Given the description of an element on the screen output the (x, y) to click on. 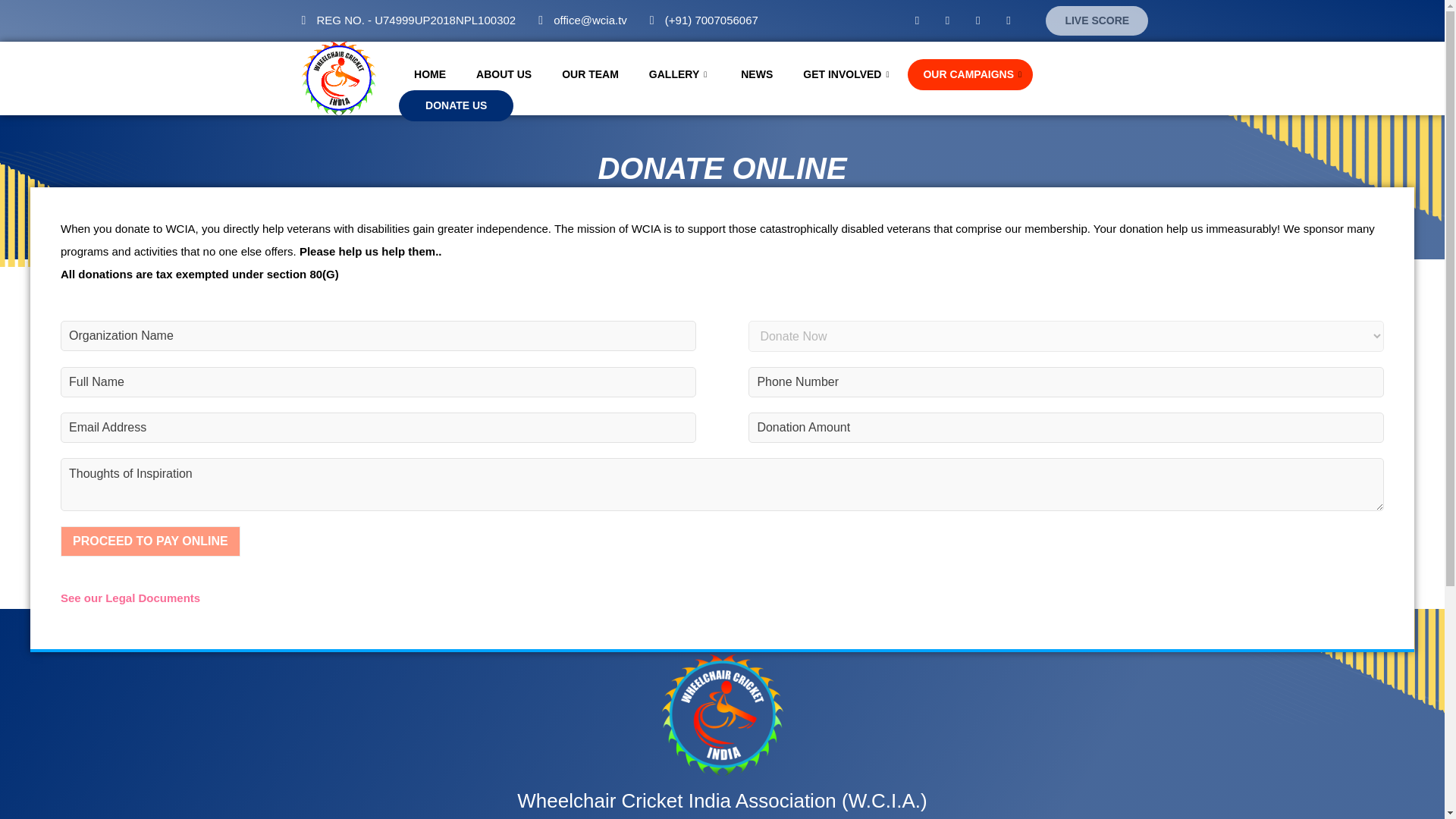
OUR TEAM (590, 74)
OUR CAMPAIGNS (969, 74)
GALLERY (679, 74)
HOME (429, 74)
GET INVOLVED (847, 74)
DONATE US (455, 105)
REG NO. - U74999UP2018NPL100302 (408, 20)
PROCEED TO PAY ONLINE (150, 541)
LIVE SCORE (1096, 20)
NEWS (756, 74)
See our Legal Documents (130, 597)
ABOUT US (504, 74)
